Given the description of an element on the screen output the (x, y) to click on. 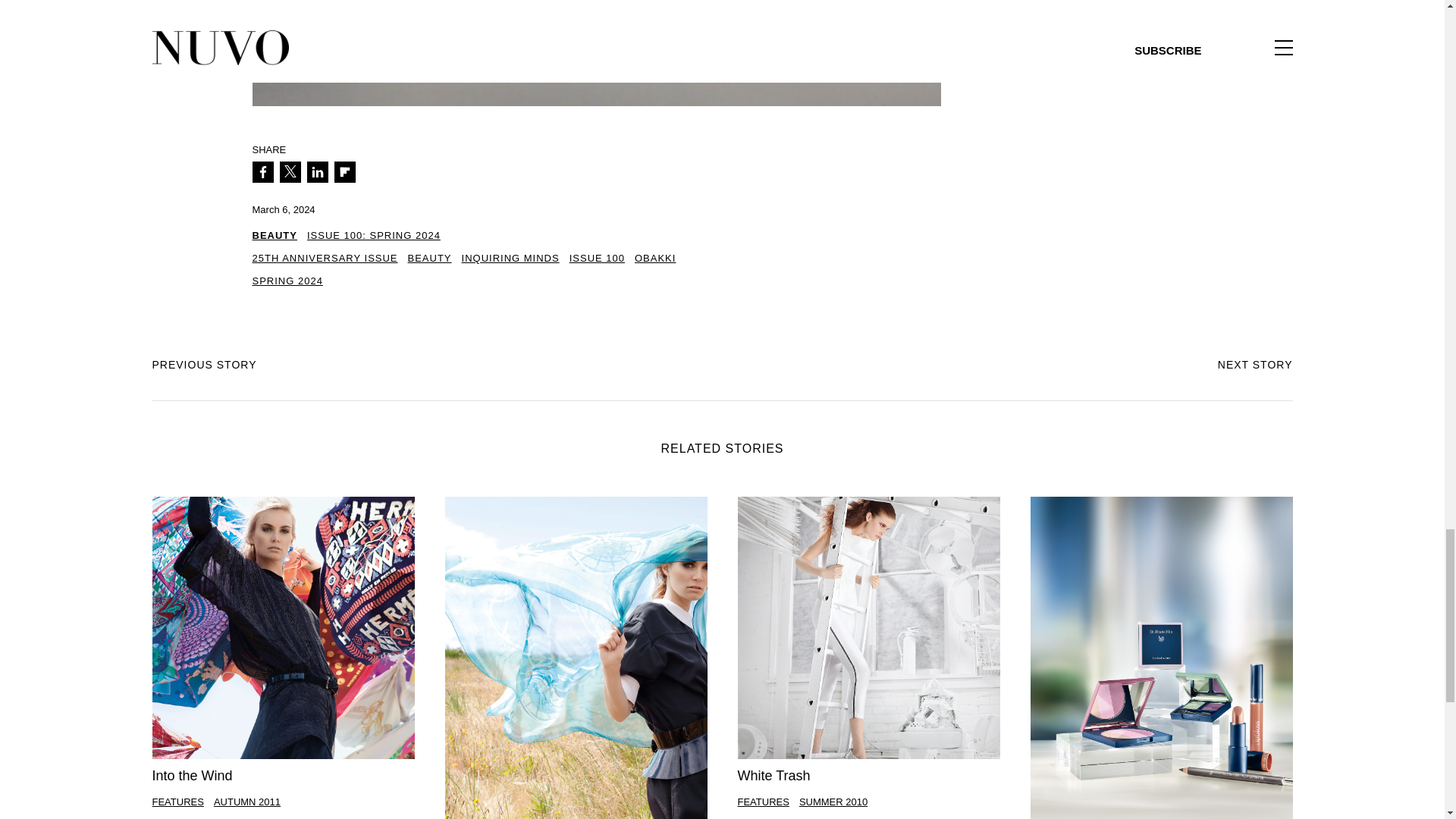
Facebook (262, 171)
Flipboard (344, 171)
Twitter (289, 171)
LinkedIn (316, 171)
